Given the description of an element on the screen output the (x, y) to click on. 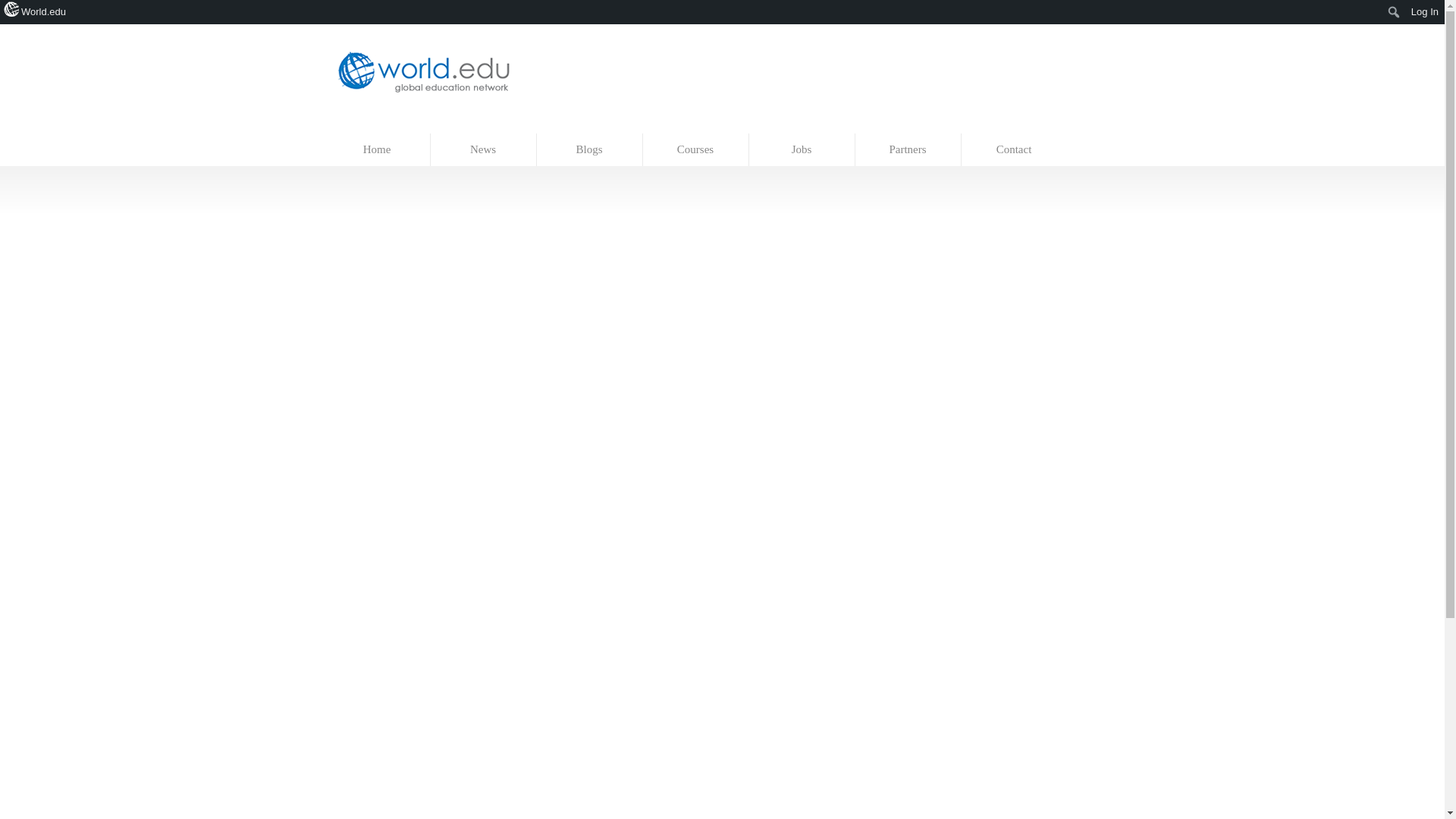
Contact (1013, 149)
Skip to content (357, 125)
Partners (908, 149)
Home (377, 149)
News (483, 149)
Courses (696, 149)
Jobs (802, 149)
Skip to content (357, 125)
Blogs (590, 149)
